Given the description of an element on the screen output the (x, y) to click on. 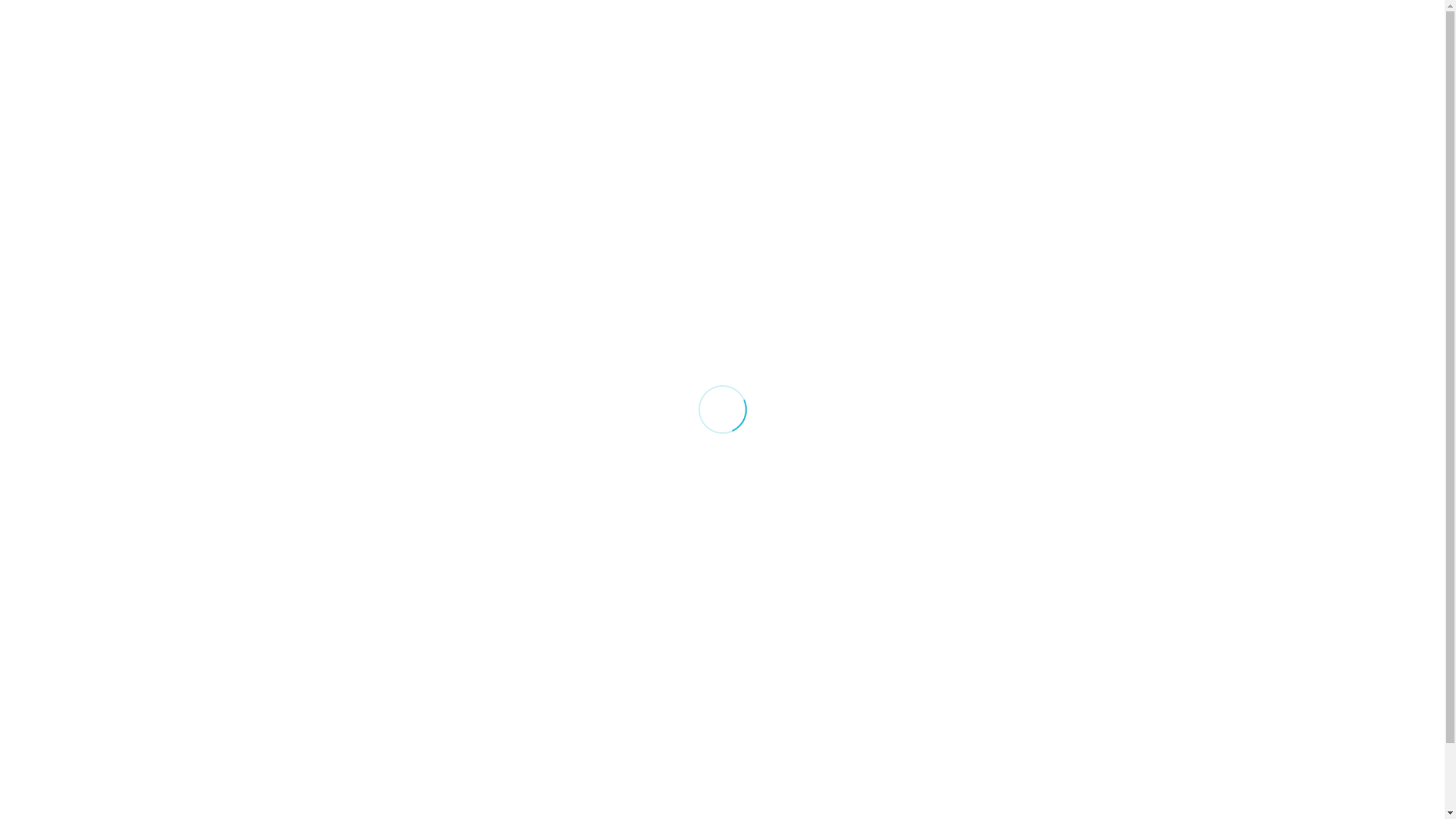
Watch Element type: text (537, 684)
Young Adults Element type: text (788, 704)
Give Element type: text (992, 665)
Students Element type: text (775, 665)
Life Stage Element type: text (815, 45)
Serving Element type: text (1002, 645)
Internship Program Element type: text (1038, 684)
Give Element type: text (1129, 45)
Watch Element type: text (993, 45)
Events Element type: text (1065, 45)
Who We Are Element type: text (555, 665)
Senior Adults Element type: text (787, 763)
Our Team Element type: text (546, 645)
Next Steps Element type: text (909, 45)
Men Element type: text (761, 724)
Job Opportunities Element type: text (1034, 704)
About Element type: text (736, 45)
Kids Element type: text (760, 645)
College Element type: text (770, 684)
Women Element type: text (772, 744)
